Given the description of an element on the screen output the (x, y) to click on. 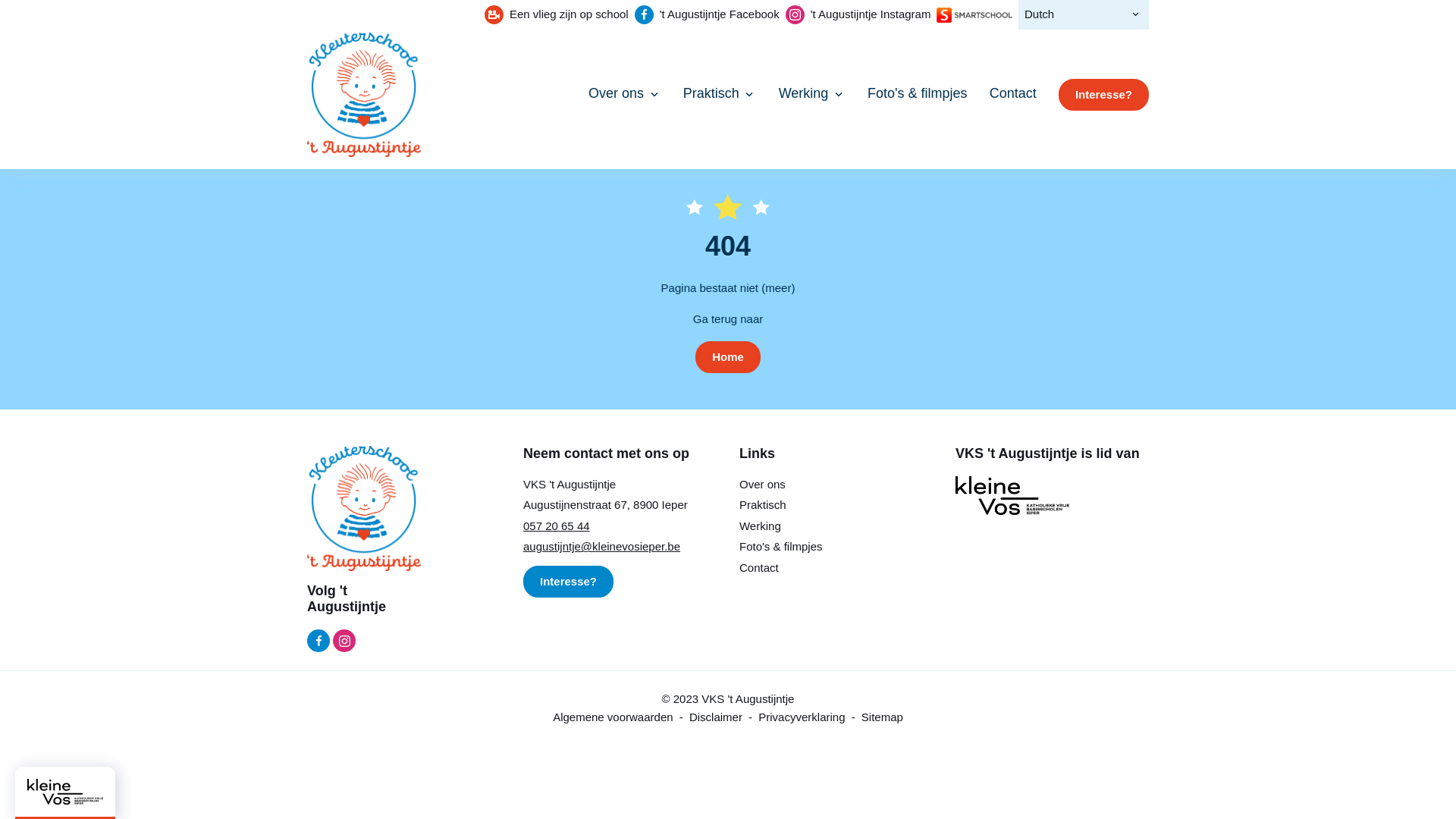
Interesse? Element type: text (1103, 94)
Praktisch Element type: text (762, 504)
Werking Element type: text (811, 92)
't Augustijntje Facebook Element type: text (706, 14)
VKS 't Augustijntje Element type: hover (363, 506)
Disclaimer Element type: text (715, 715)
Privacyverklaring Element type: text (801, 715)
Foto's & filmpjes Element type: text (916, 92)
057 20 65 44 Element type: text (556, 525)
Foto's & filmpjes Element type: text (780, 545)
kleine Vos | Katholieke Vrije Basisscholen Ieper Element type: hover (65, 790)
Contact Element type: text (758, 567)
Algemene voorwaarden Element type: text (612, 715)
Sitemap Element type: text (882, 715)
VKS 't Augustijntje Element type: hover (363, 93)
Contact Element type: text (1012, 92)
Werking Element type: text (760, 525)
Een vlieg zijn op school Element type: text (556, 14)
't Augustijntje Instagram Element type: hover (343, 640)
Home Element type: text (727, 357)
Interesse? Element type: text (568, 581)
Praktisch Element type: text (719, 92)
't Augustijntje Smartschool Element type: hover (974, 13)
augustijntje@kleinevosieper.be Element type: text (601, 545)
't Augustijntje Instagram Element type: text (858, 14)
kleine Vos | Katholieke Vrije Basisscholen Ieper Element type: hover (1012, 493)
Over ons Element type: text (624, 92)
Over ons Element type: text (762, 483)
't Augustijntje Facebook Element type: hover (318, 640)
